Given the description of an element on the screen output the (x, y) to click on. 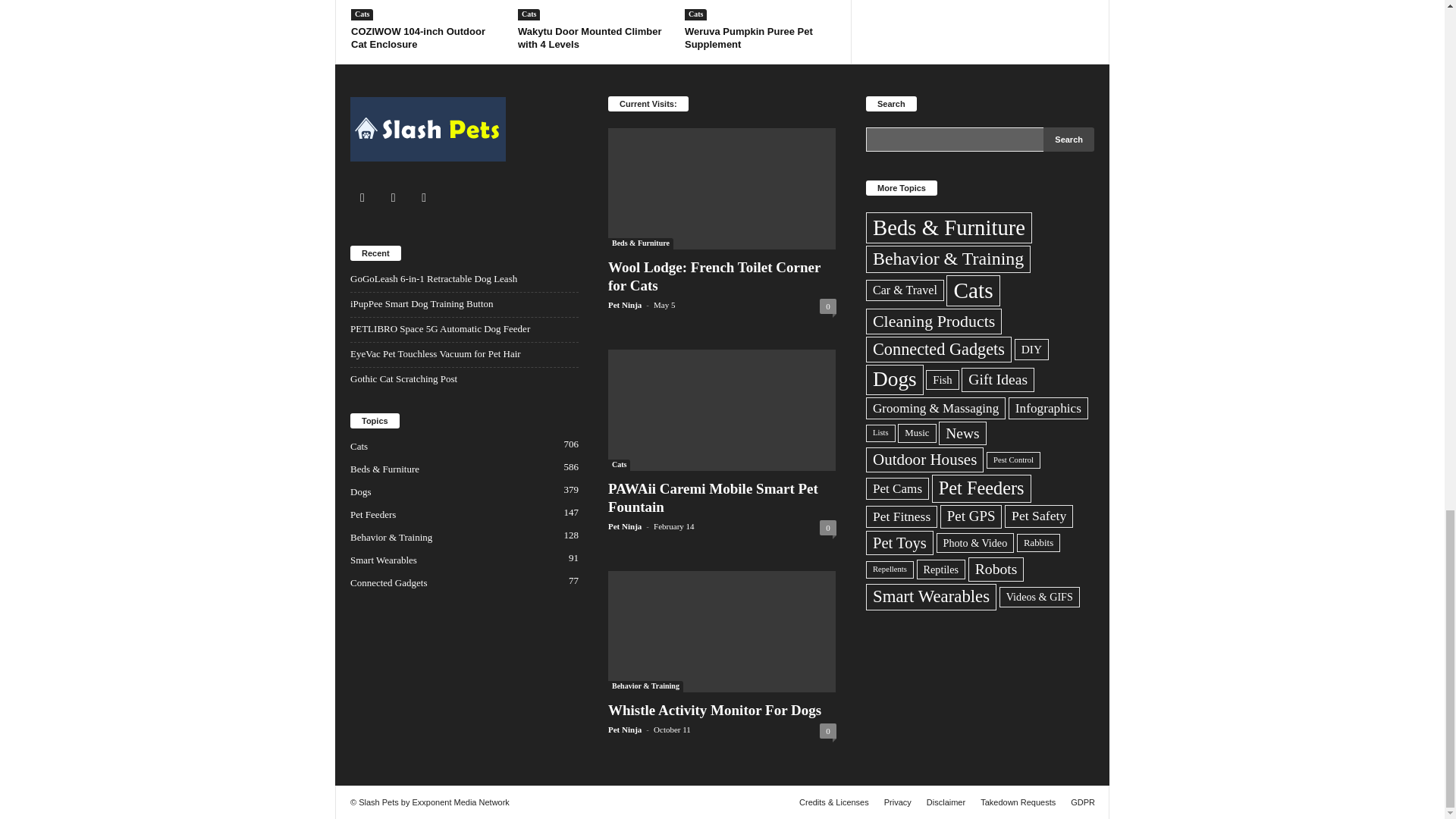
Search (1068, 139)
